Given the description of an element on the screen output the (x, y) to click on. 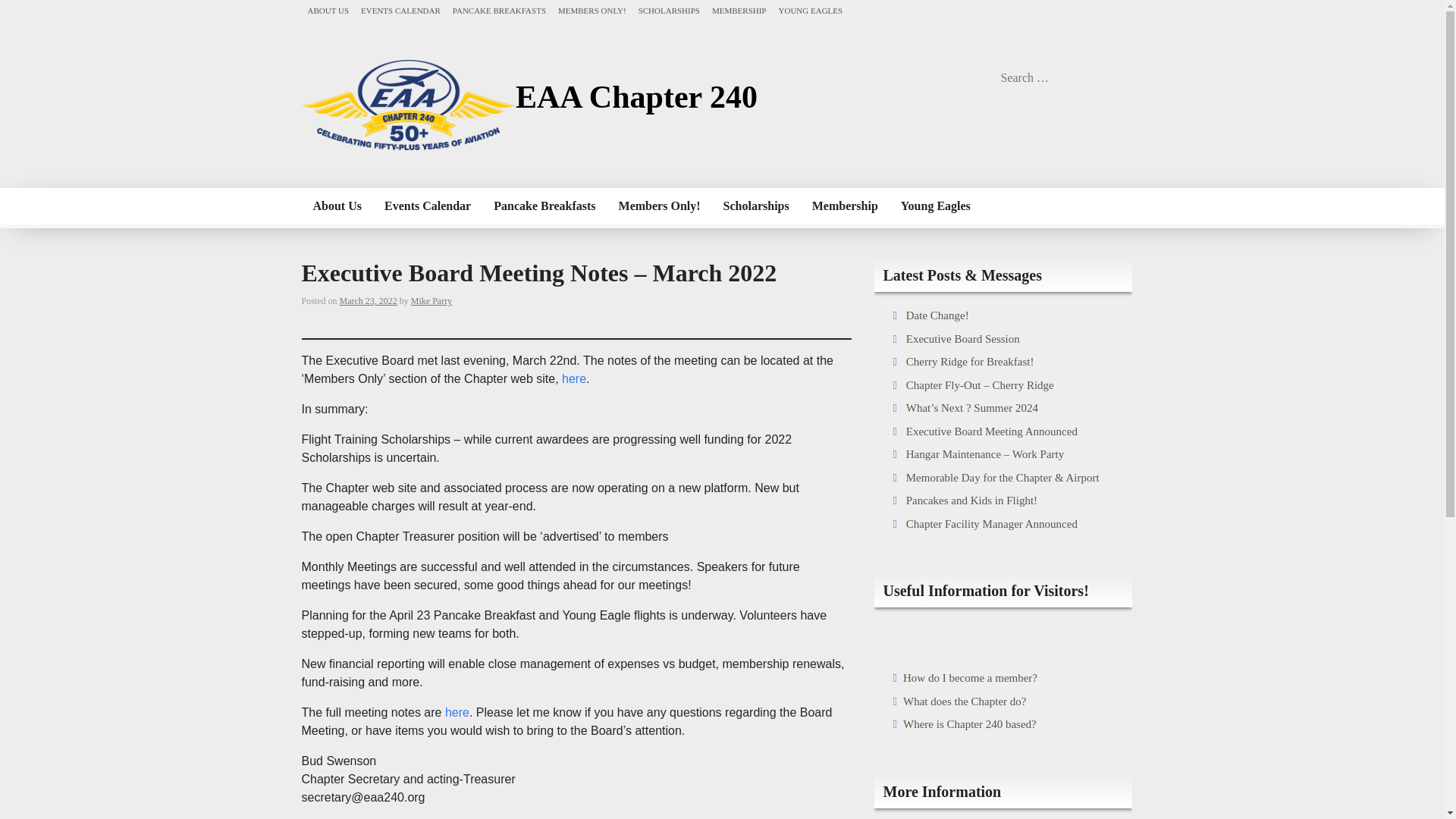
Search (22, 9)
Executive Board Meeting Announced (991, 431)
Mike Parry (430, 300)
here (456, 712)
EAA Chapter 240 (636, 96)
About Us (336, 206)
Membership (844, 206)
ABOUT US (328, 10)
Members Only! (659, 206)
Executive Board Session (962, 338)
Events Calendar (426, 206)
Pancake Breakfasts (544, 206)
Scholarships (755, 206)
MEMBERSHIP (739, 10)
MEMBERS ONLY! (591, 10)
